Given the description of an element on the screen output the (x, y) to click on. 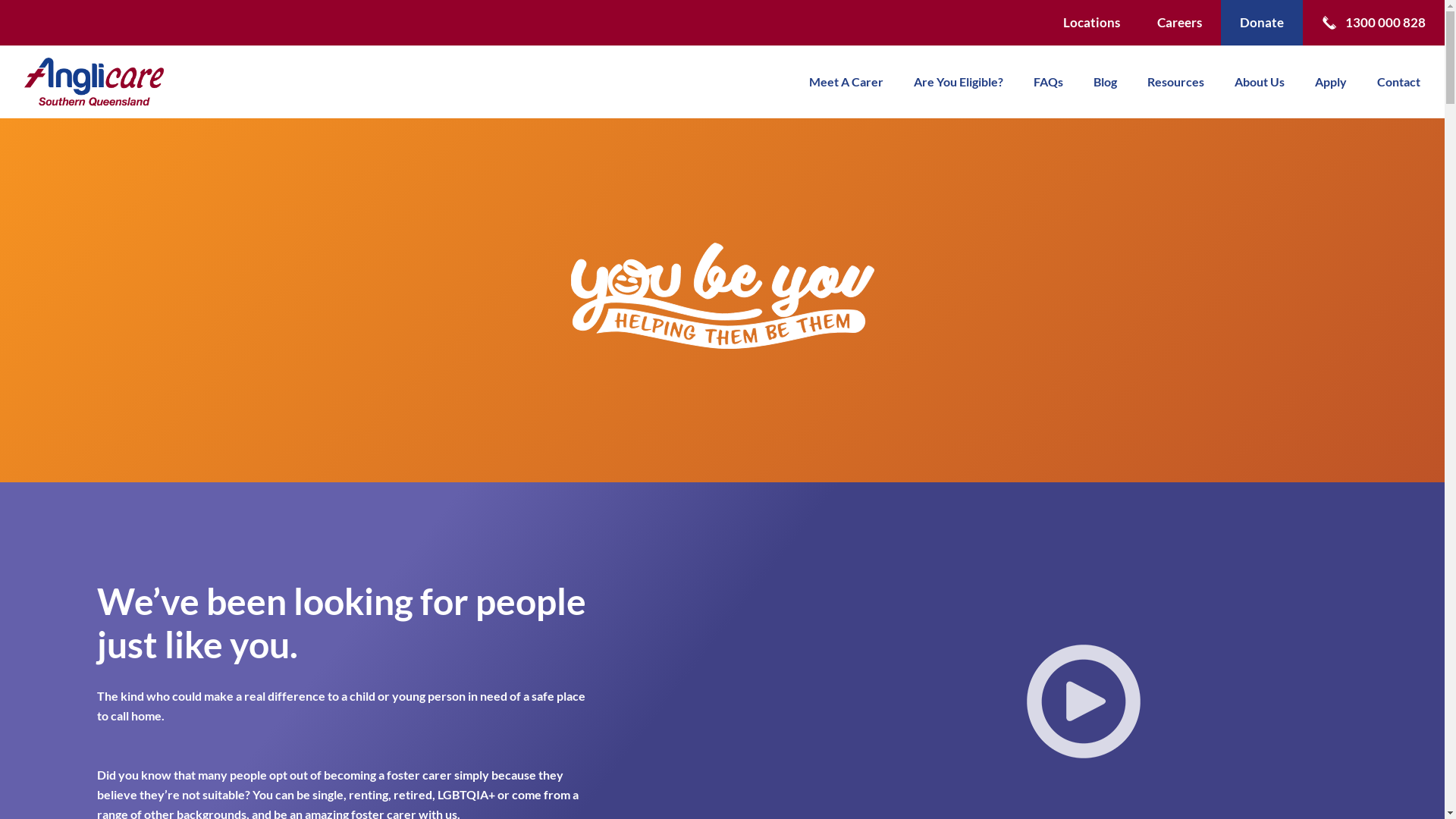
Apply Element type: text (1330, 81)
Are You Eligible? Element type: text (958, 81)
Contact Element type: text (1398, 81)
Resources Element type: text (1175, 81)
Blog Element type: text (1105, 81)
About Us Element type: text (1259, 81)
Locations Element type: text (1091, 22)
1300 000 828 Element type: text (1386, 22)
Careers Element type: text (1180, 22)
FAQs Element type: text (1048, 81)
Meet A Carer Element type: text (846, 81)
Donate Element type: text (1261, 22)
